Given the description of an element on the screen output the (x, y) to click on. 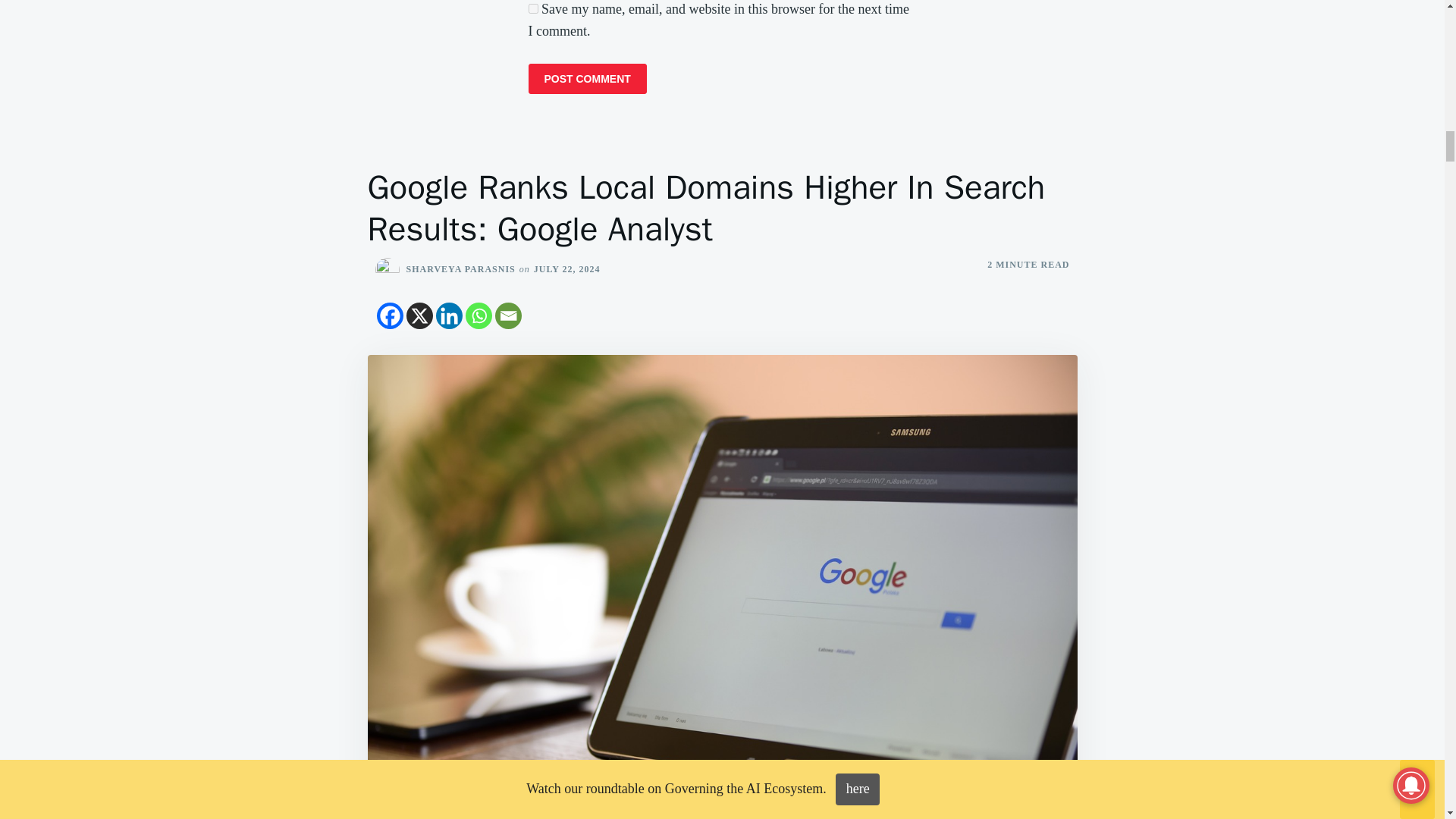
Post Comment (586, 78)
yes (532, 8)
